Given the description of an element on the screen output the (x, y) to click on. 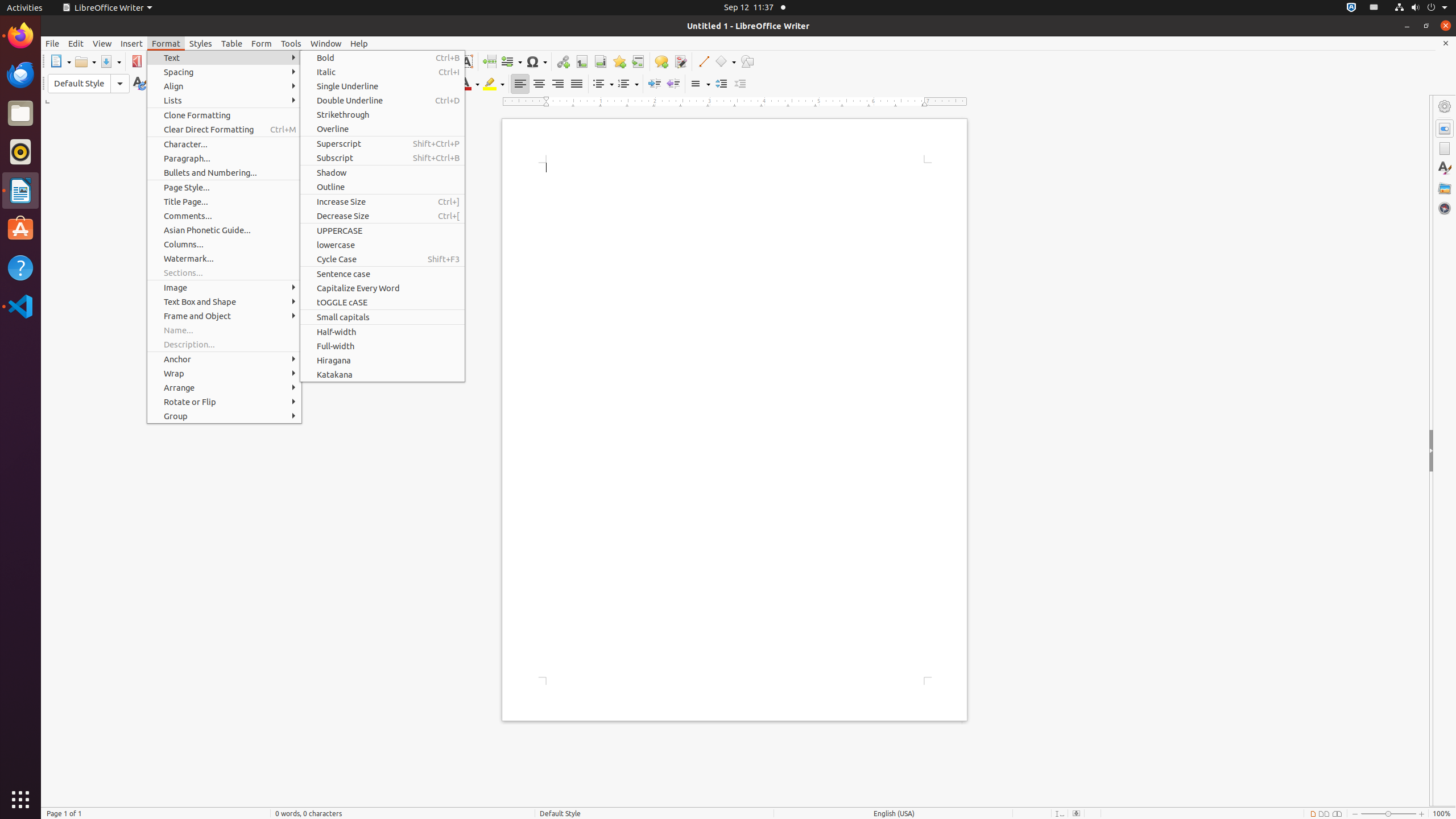
Right Element type: toggle-button (557, 83)
Anchor Element type: menu (224, 359)
Wrap Element type: menu (224, 373)
Line Element type: toggle-button (702, 61)
Title Page... Element type: menu-item (224, 201)
